Given the description of an element on the screen output the (x, y) to click on. 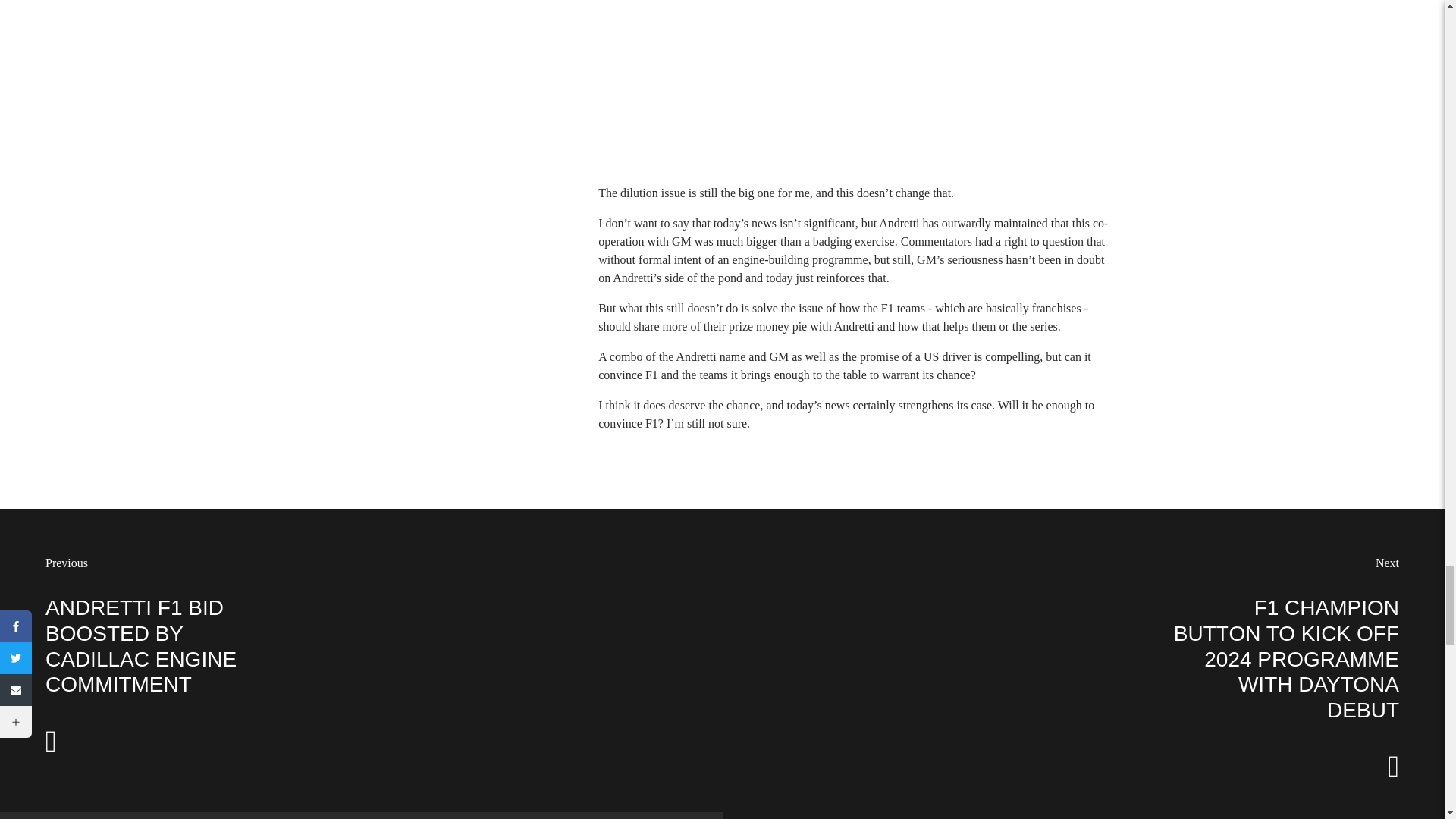
Next (1387, 562)
ANDRETTI F1 BID BOOSTED BY CADILLAC ENGINE COMMITMENT (140, 646)
Previous (66, 562)
